Given the description of an element on the screen output the (x, y) to click on. 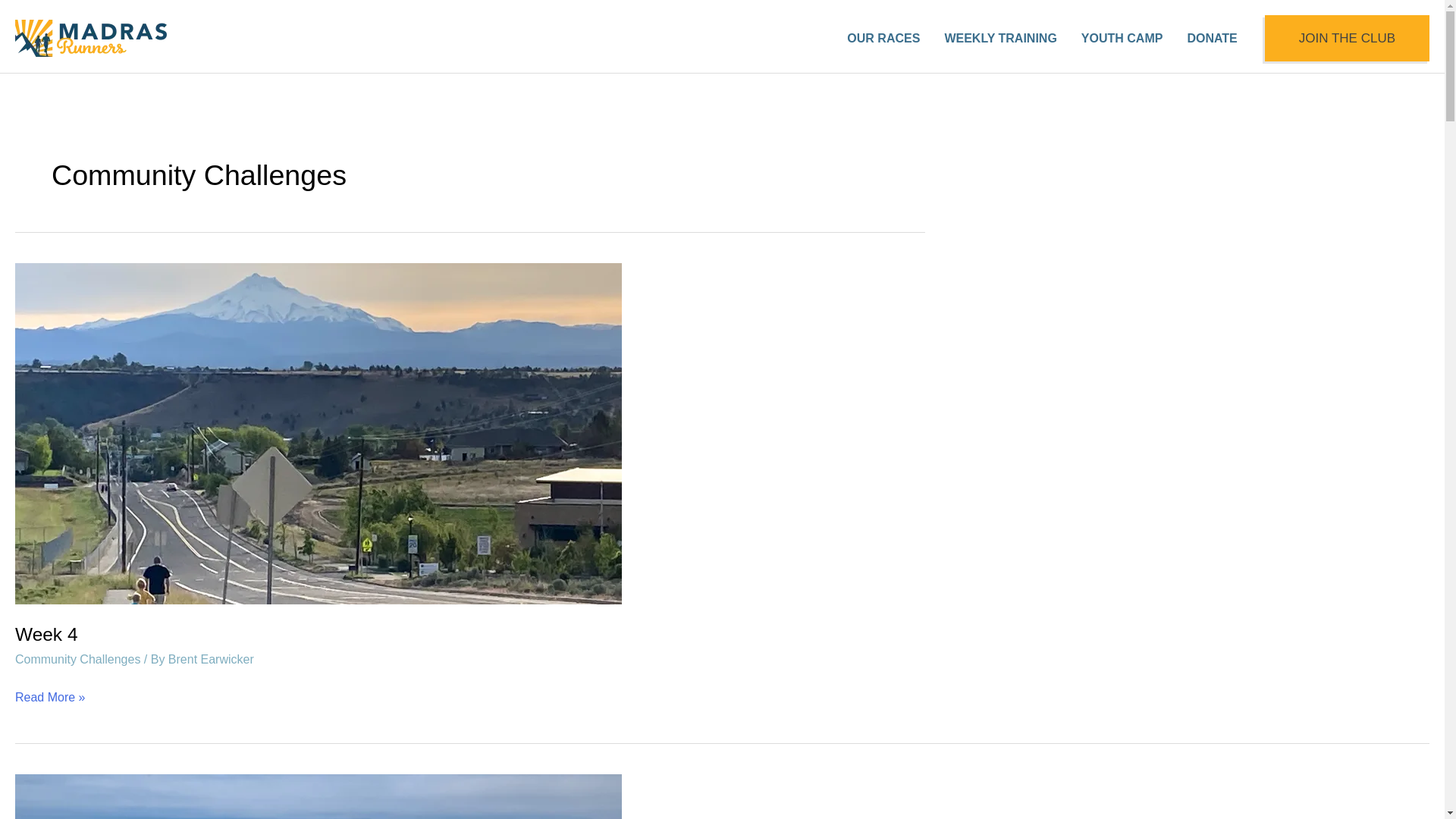
Week 4 (46, 634)
DONATE (1211, 38)
Community Challenges (76, 658)
YOUTH CAMP (1121, 38)
OUR RACES (882, 38)
WEEKLY TRAINING (999, 38)
JOIN THE CLUB (1347, 38)
View all posts by Brent Earwicker (210, 658)
Brent Earwicker (210, 658)
